Given the description of an element on the screen output the (x, y) to click on. 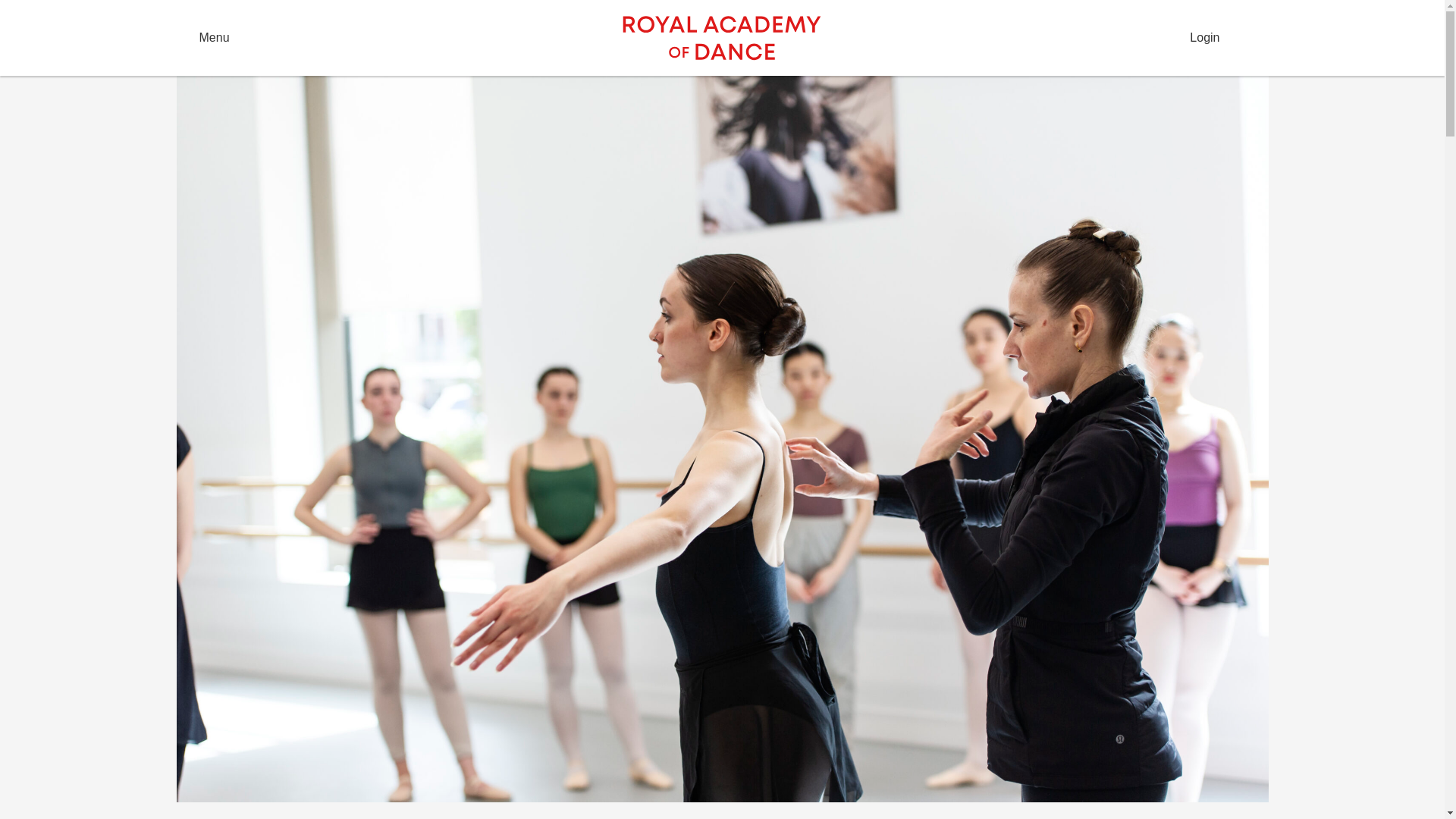
Menu (394, 38)
